Given the description of an element on the screen output the (x, y) to click on. 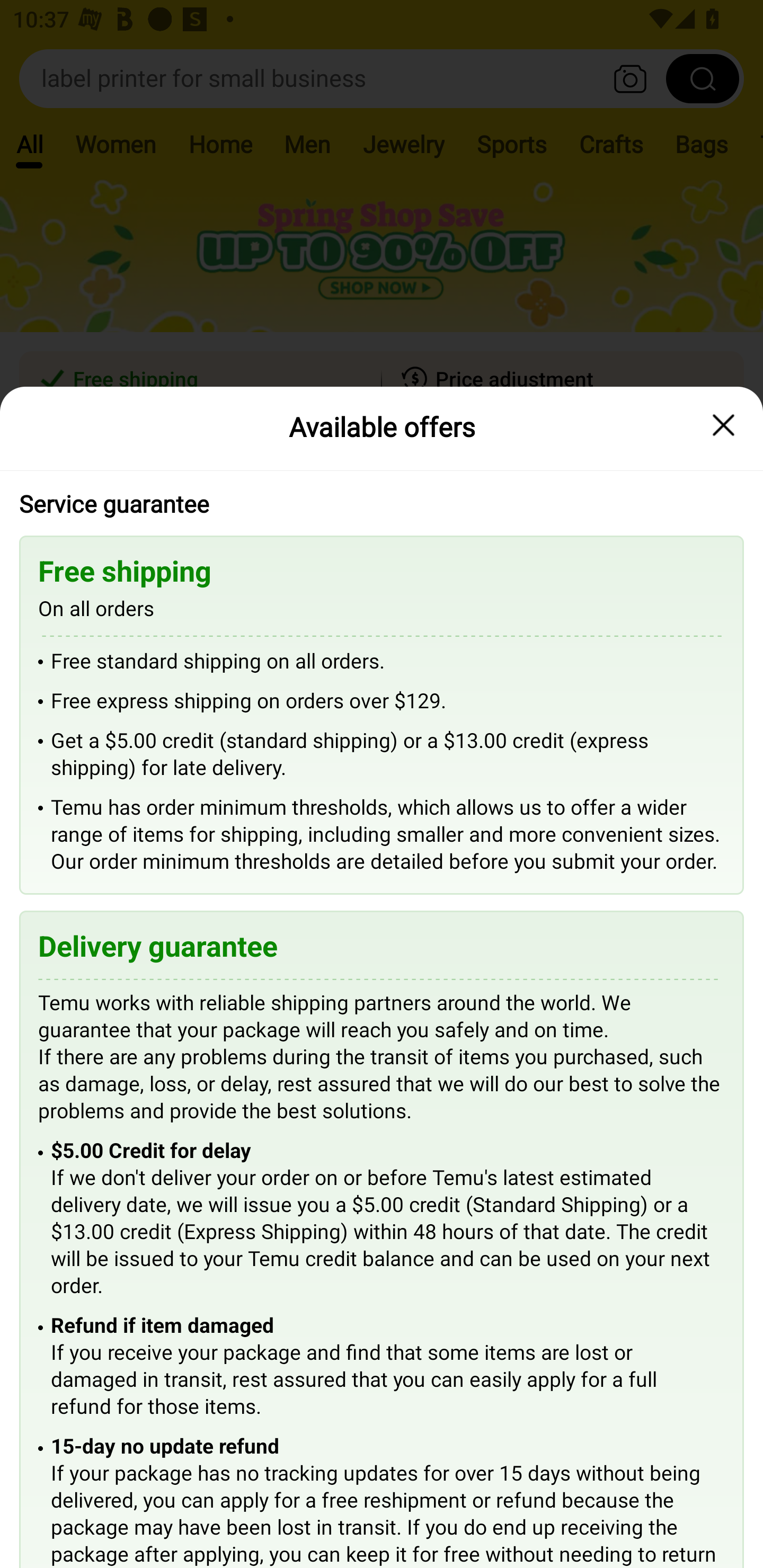
Lightning deals (379, 524)
